Given the description of an element on the screen output the (x, y) to click on. 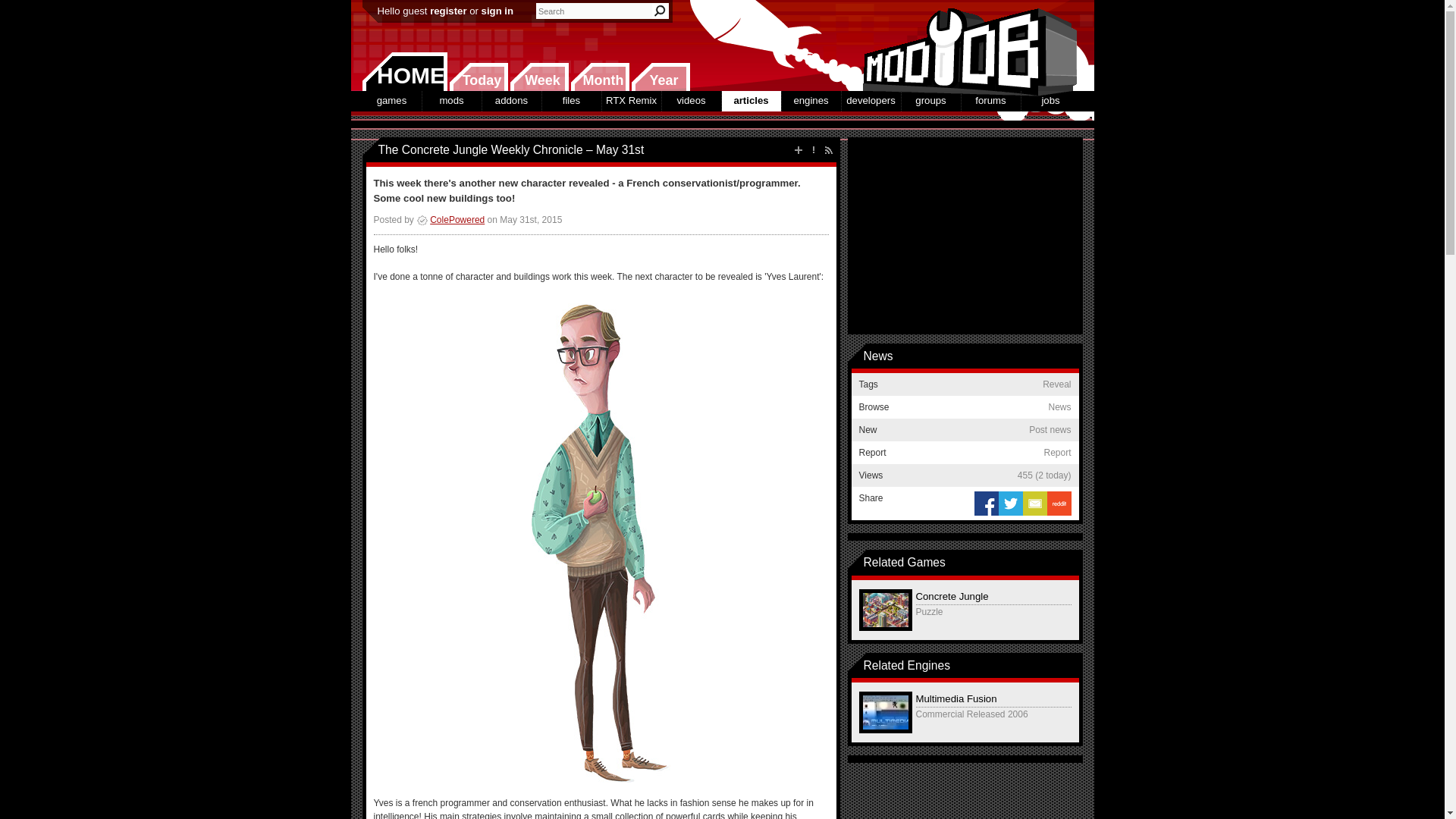
Report (813, 150)
games (392, 100)
New this month (599, 76)
HOME (405, 71)
register (447, 10)
New today (478, 76)
RSS (828, 150)
Week (539, 76)
New this year (660, 76)
files (570, 100)
